Given the description of an element on the screen output the (x, y) to click on. 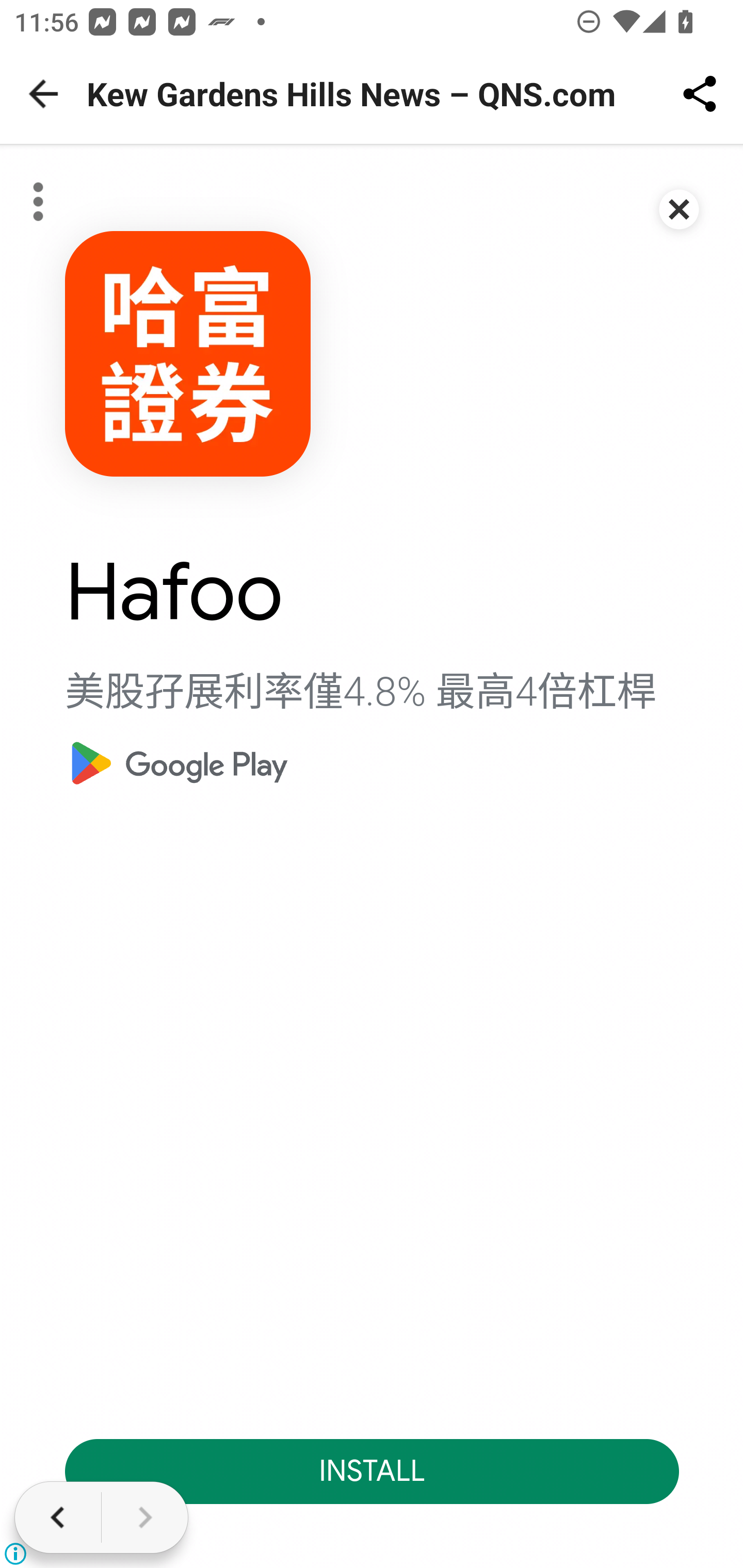
Close ad (679, 210)
Hafoo (174, 592)
美股孖展利率僅4.8% 最高4倍杠桿 (361, 692)
INSTALL (372, 1470)
